Given the description of an element on the screen output the (x, y) to click on. 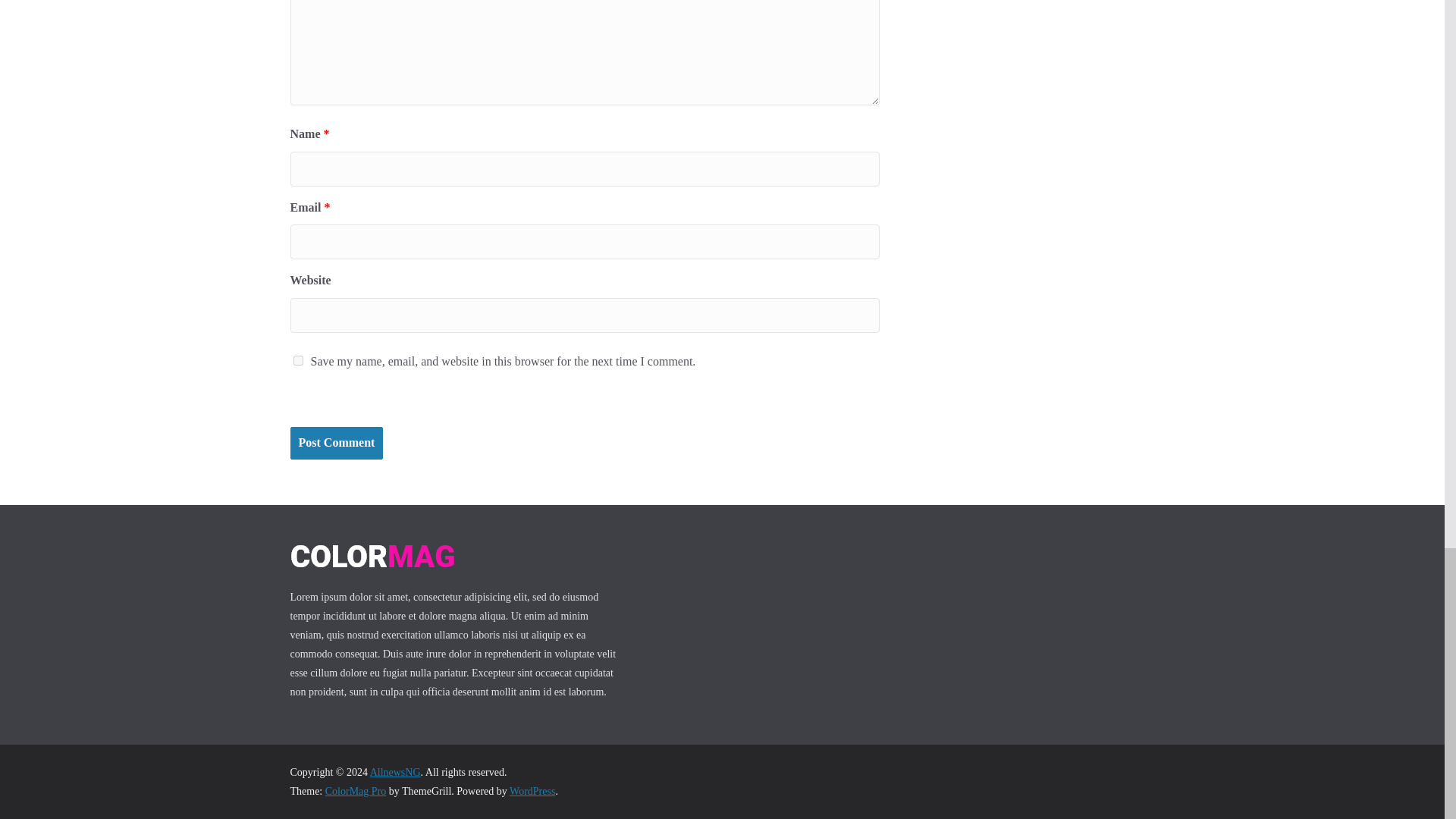
WordPress (531, 790)
AllnewsNG (394, 772)
ColorMag Pro (355, 790)
Post Comment (335, 442)
yes (297, 360)
Post Comment (335, 442)
